Given the description of an element on the screen output the (x, y) to click on. 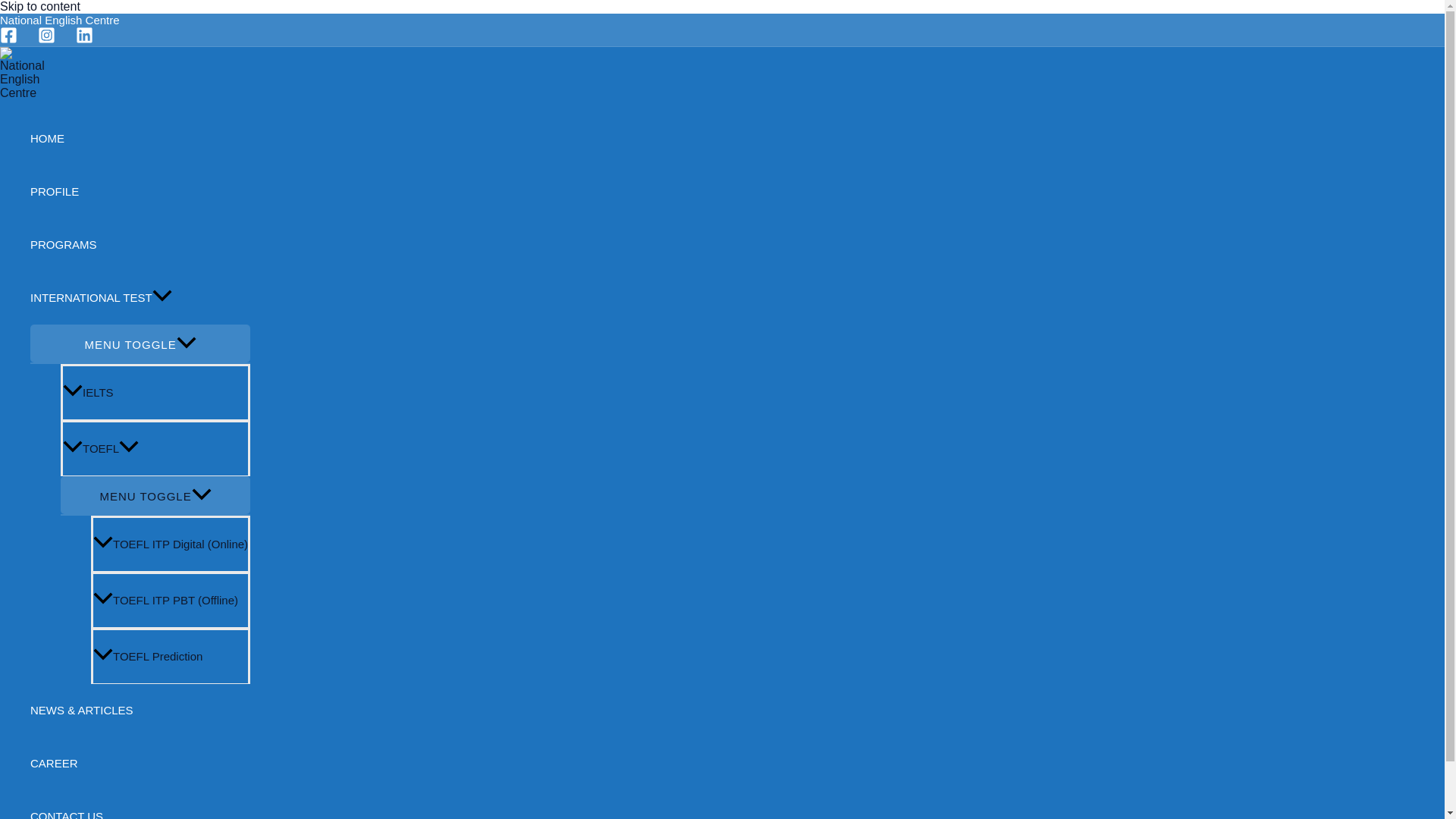
Skip to content (40, 6)
Search (326, 175)
Search (326, 175)
CAREER (140, 763)
PROFILE (140, 191)
HOME (140, 138)
Skip to content (40, 6)
MENU TOGGLE (140, 343)
PROGRAMS (140, 244)
TOEFL Prediction (170, 655)
